Given the description of an element on the screen output the (x, y) to click on. 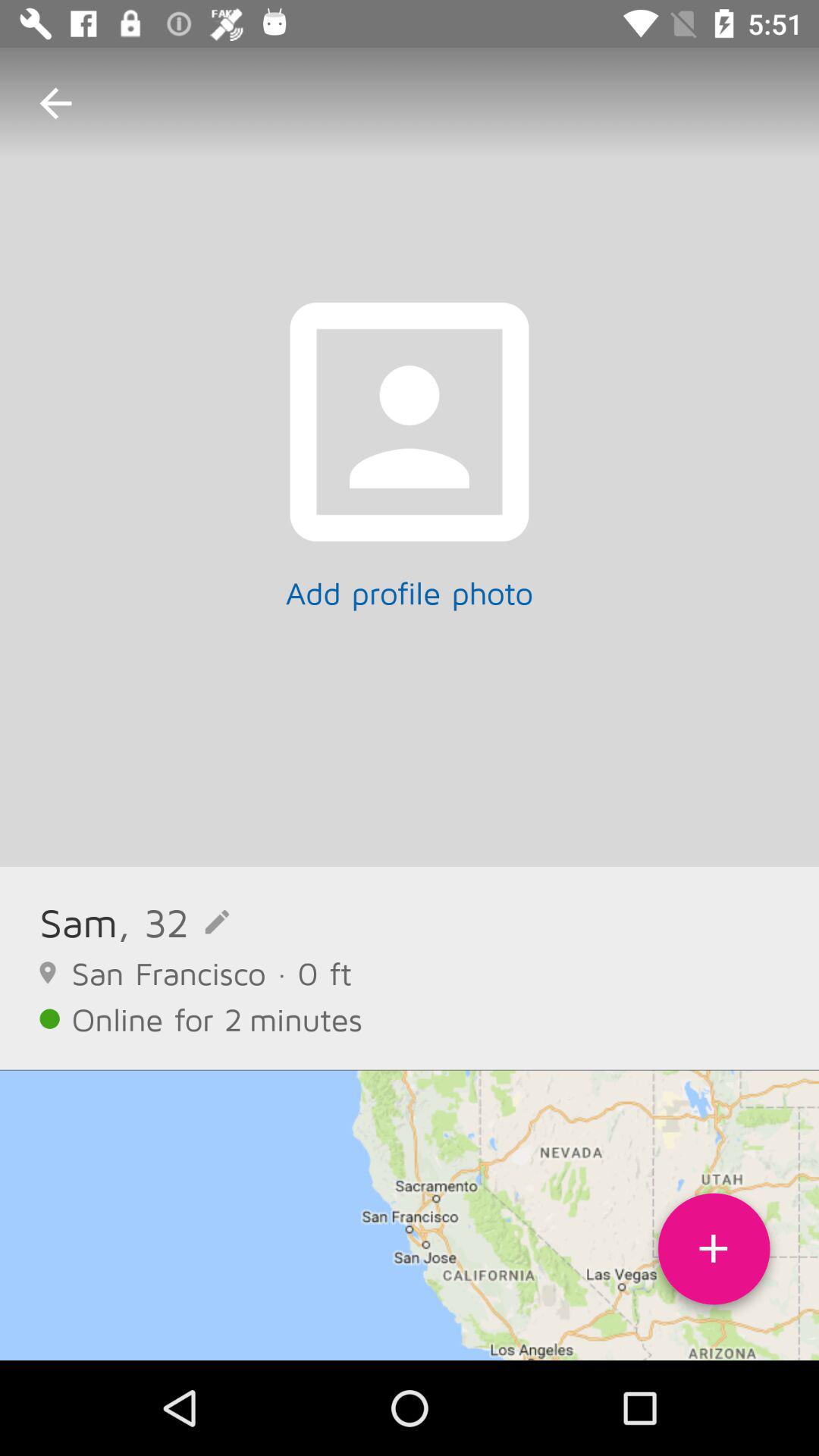
turn off icon next to sam item (173, 921)
